Given the description of an element on the screen output the (x, y) to click on. 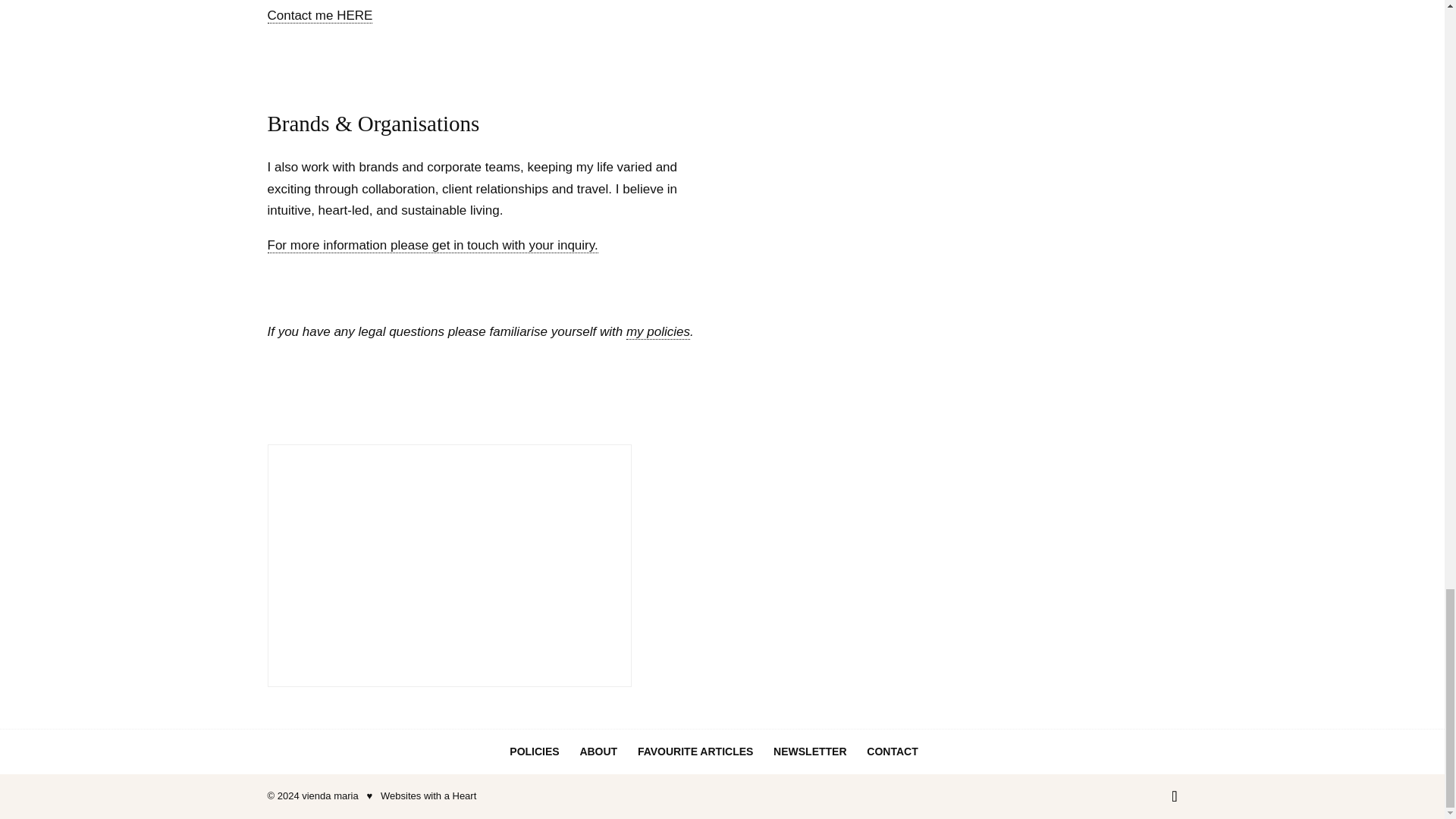
FAVOURITE ARTICLES (694, 751)
CONTACT (891, 751)
Contact me HERE (319, 15)
For more information please get in touch with your inquiry. (431, 245)
Websites with a Heart (428, 795)
NEWSLETTER (809, 751)
POLICIES (534, 751)
my policies (658, 331)
vienda maria (329, 795)
ABOUT (598, 751)
